Given the description of an element on the screen output the (x, y) to click on. 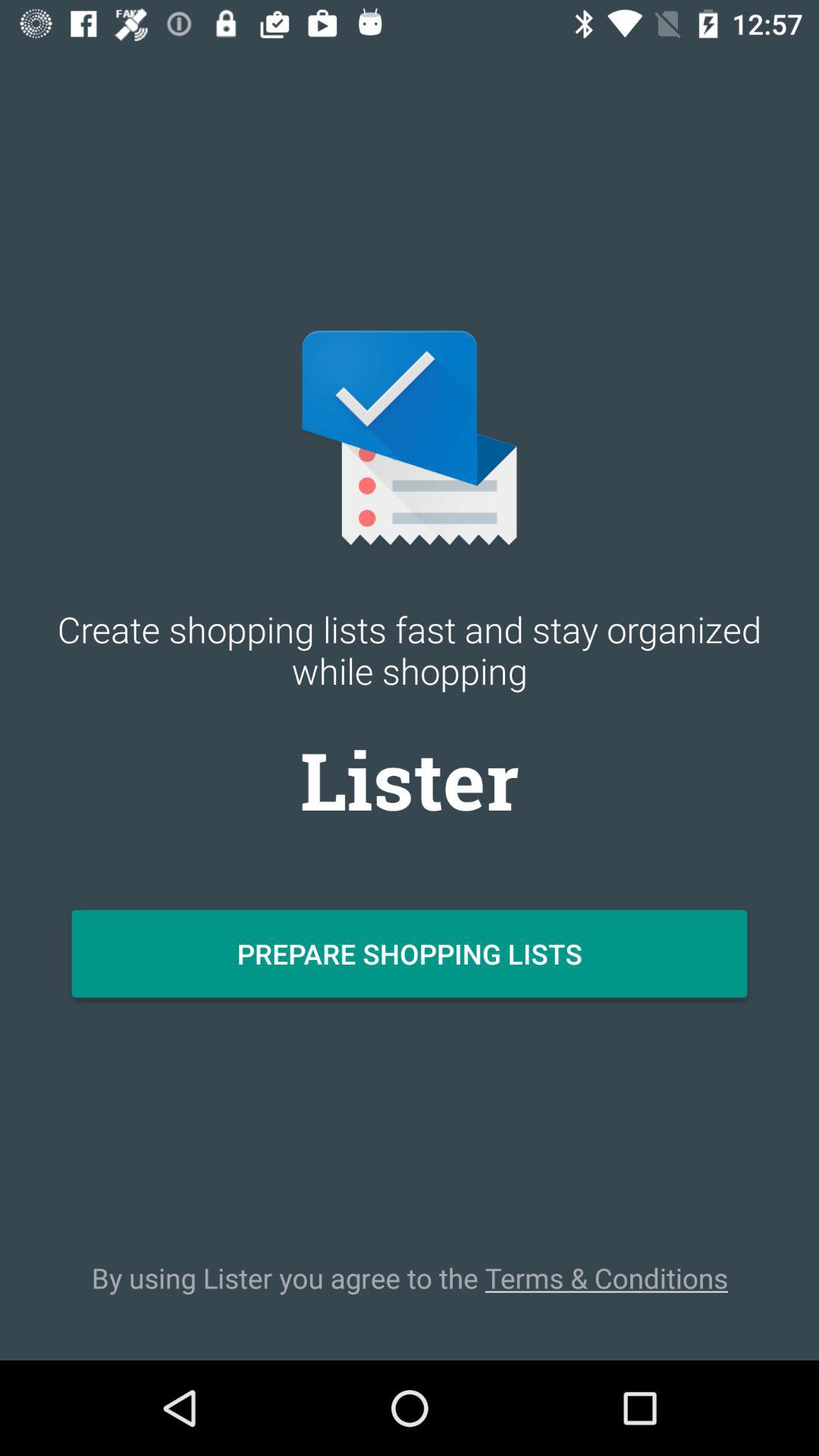
choose the icon below prepare shopping lists (409, 1277)
